Given the description of an element on the screen output the (x, y) to click on. 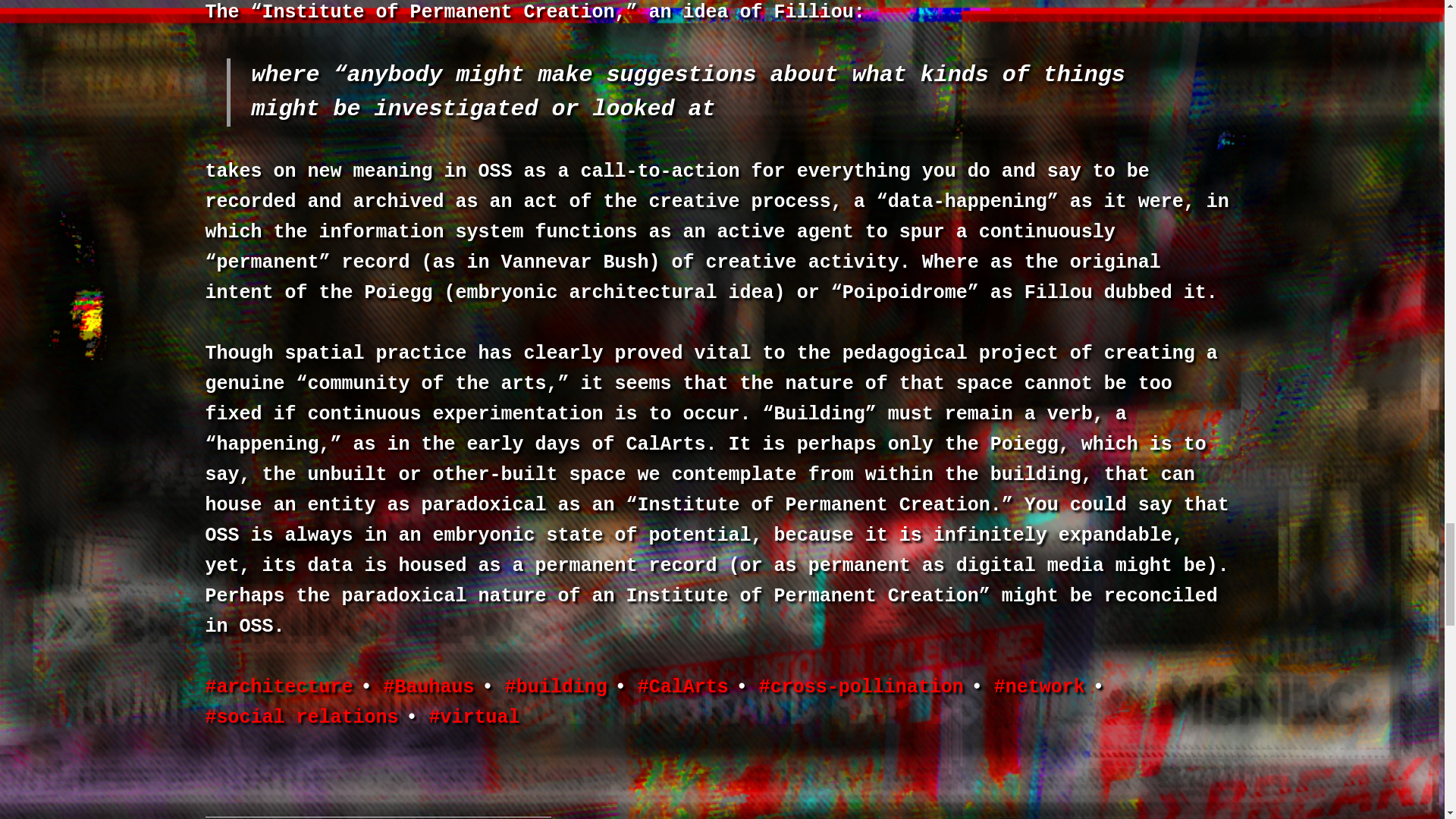
Bauhaus (429, 687)
CalArts (683, 687)
network (1039, 687)
architecture (278, 687)
cross-pollination (860, 687)
building (556, 687)
